Given the description of an element on the screen output the (x, y) to click on. 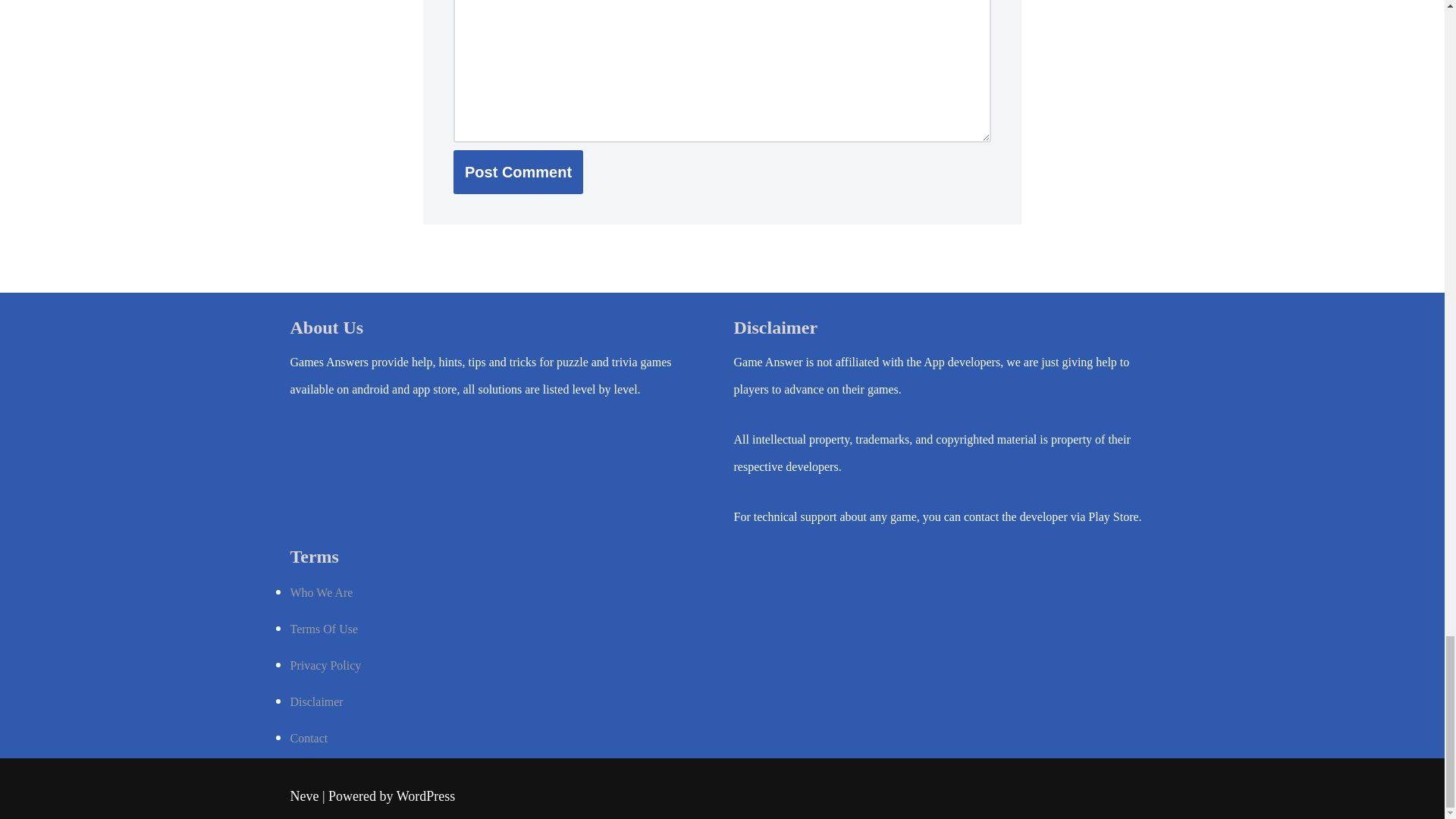
Contact (308, 738)
WordPress (425, 795)
Post Comment (517, 171)
Post Comment (517, 171)
Privacy Policy (325, 665)
Neve (303, 795)
Disclaimer (315, 701)
Who We Are (320, 592)
Terms Of Use (323, 628)
